Given the description of an element on the screen output the (x, y) to click on. 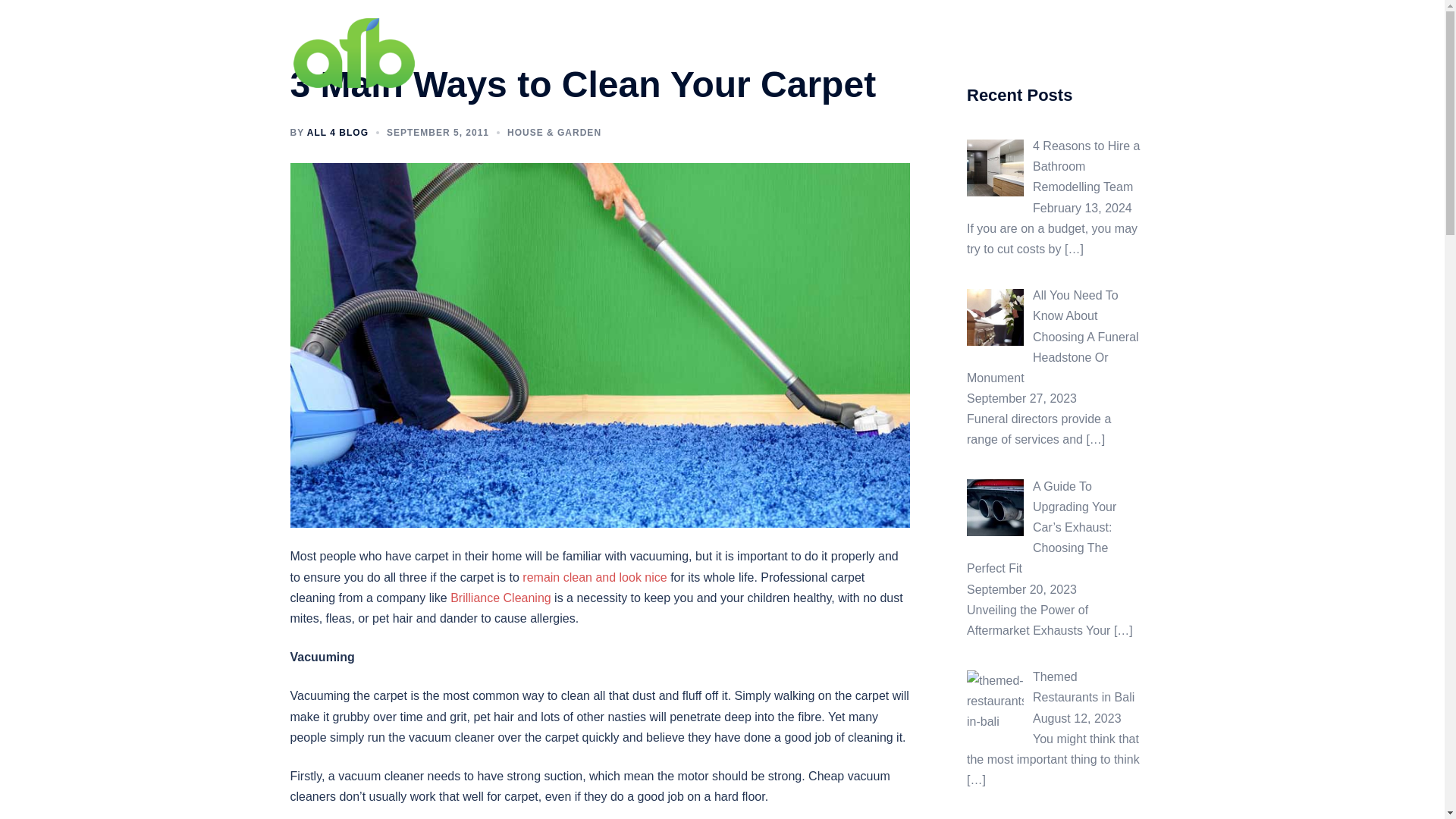
SEPTEMBER 5, 2011 (438, 132)
All for Blog (352, 51)
Contact (1124, 53)
Themed Restaurants in Bali (1083, 686)
ALL 4 BLOG (337, 132)
Brilliance Cleaning (500, 597)
4 Reasons to Hire a Bathroom Remodelling Team (1086, 166)
Lifestyle (1002, 53)
Home (846, 53)
